Given the description of an element on the screen output the (x, y) to click on. 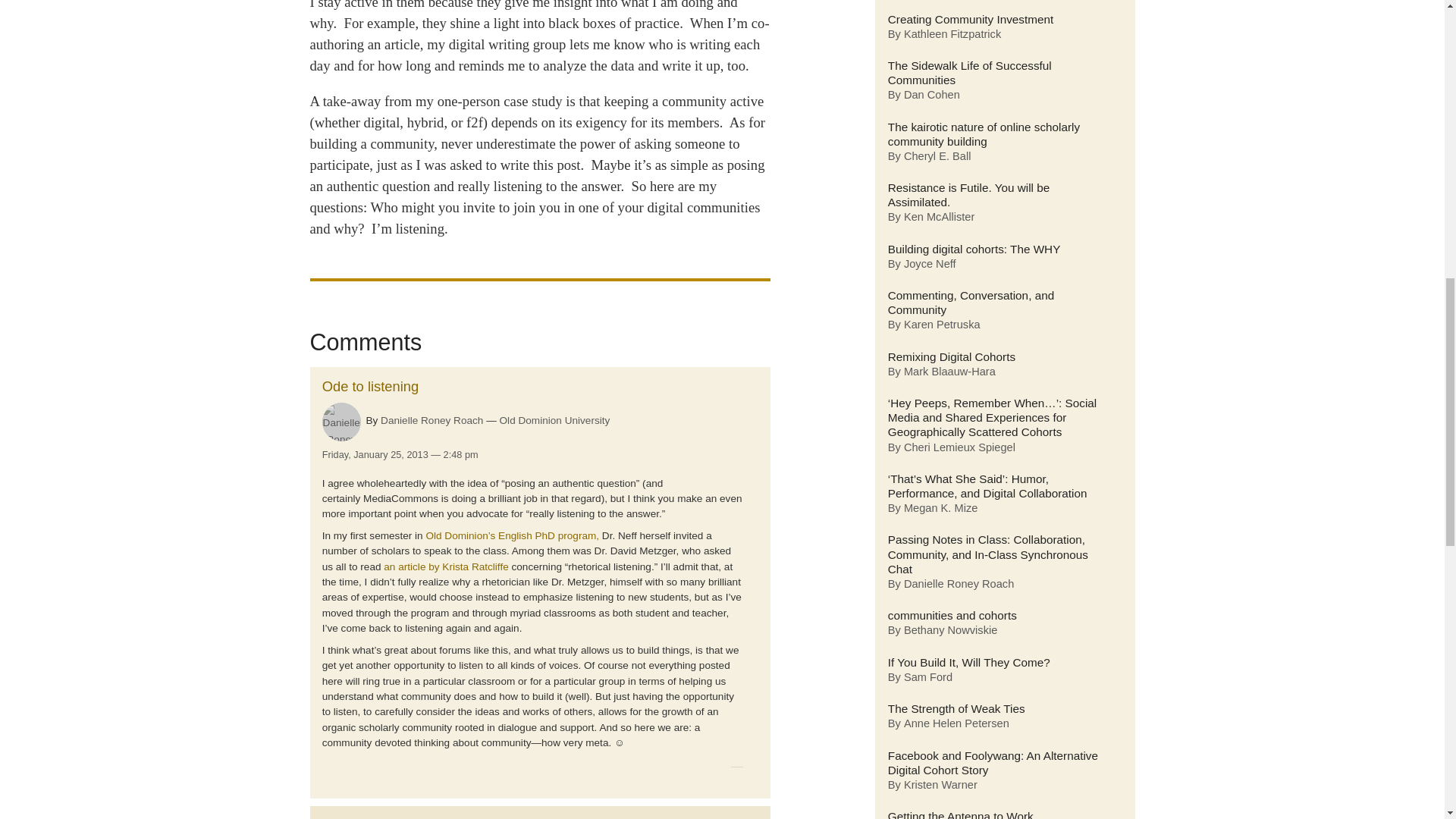
an article by Krista Ratcliffe (446, 566)
Motivation (353, 818)
User profile: Danielle Roney Roach (431, 419)
Old Dominion University (554, 420)
View user profile. (341, 421)
Danielle Roney Roach (431, 419)
Ode to listening (370, 385)
Old Dominion University (554, 420)
